Given the description of an element on the screen output the (x, y) to click on. 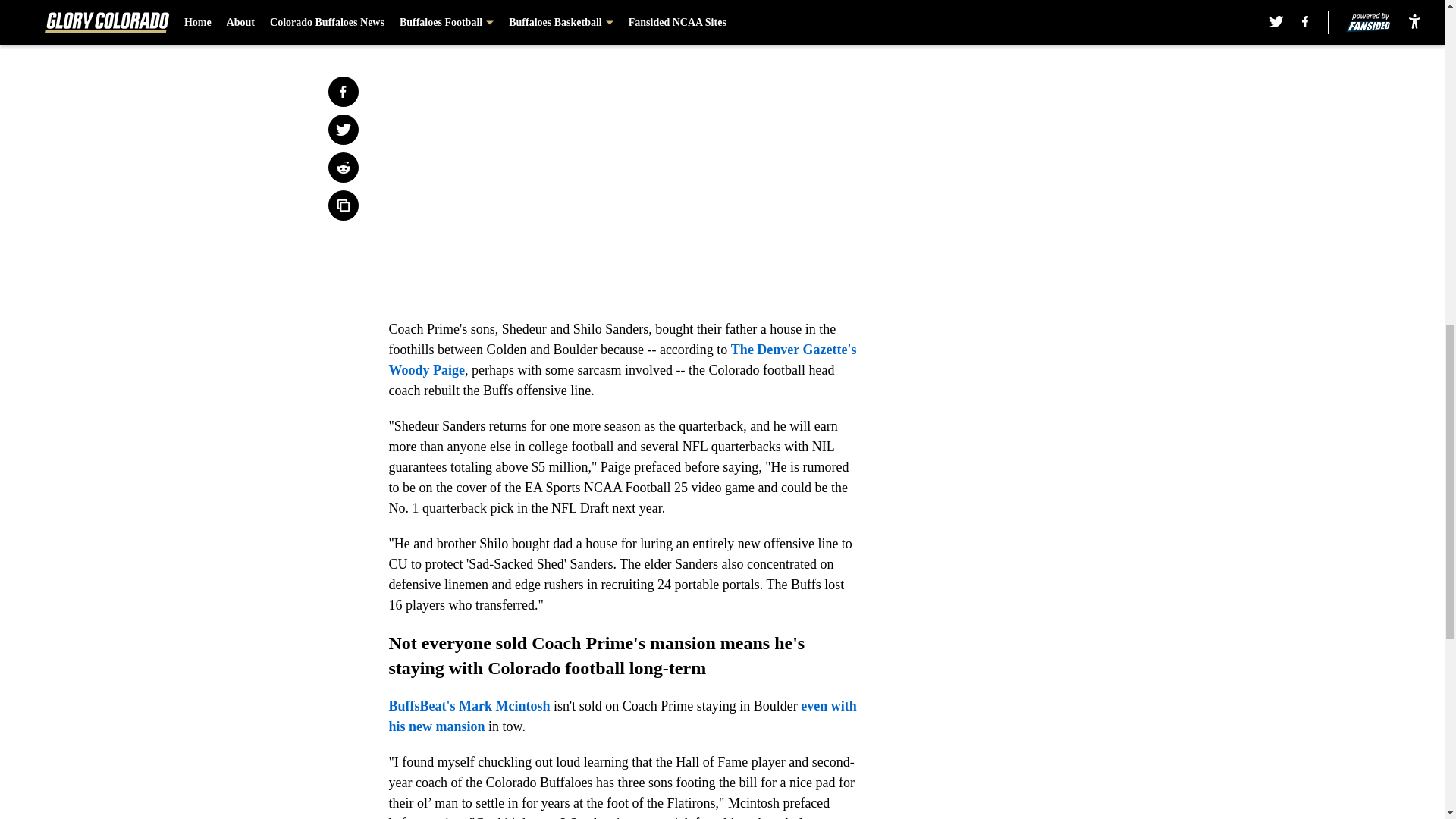
even with his new mansion (622, 715)
The Denver Gazette's Woody Paige (622, 359)
BuffsBeat's Mark Mcintosh (469, 705)
